Given the description of an element on the screen output the (x, y) to click on. 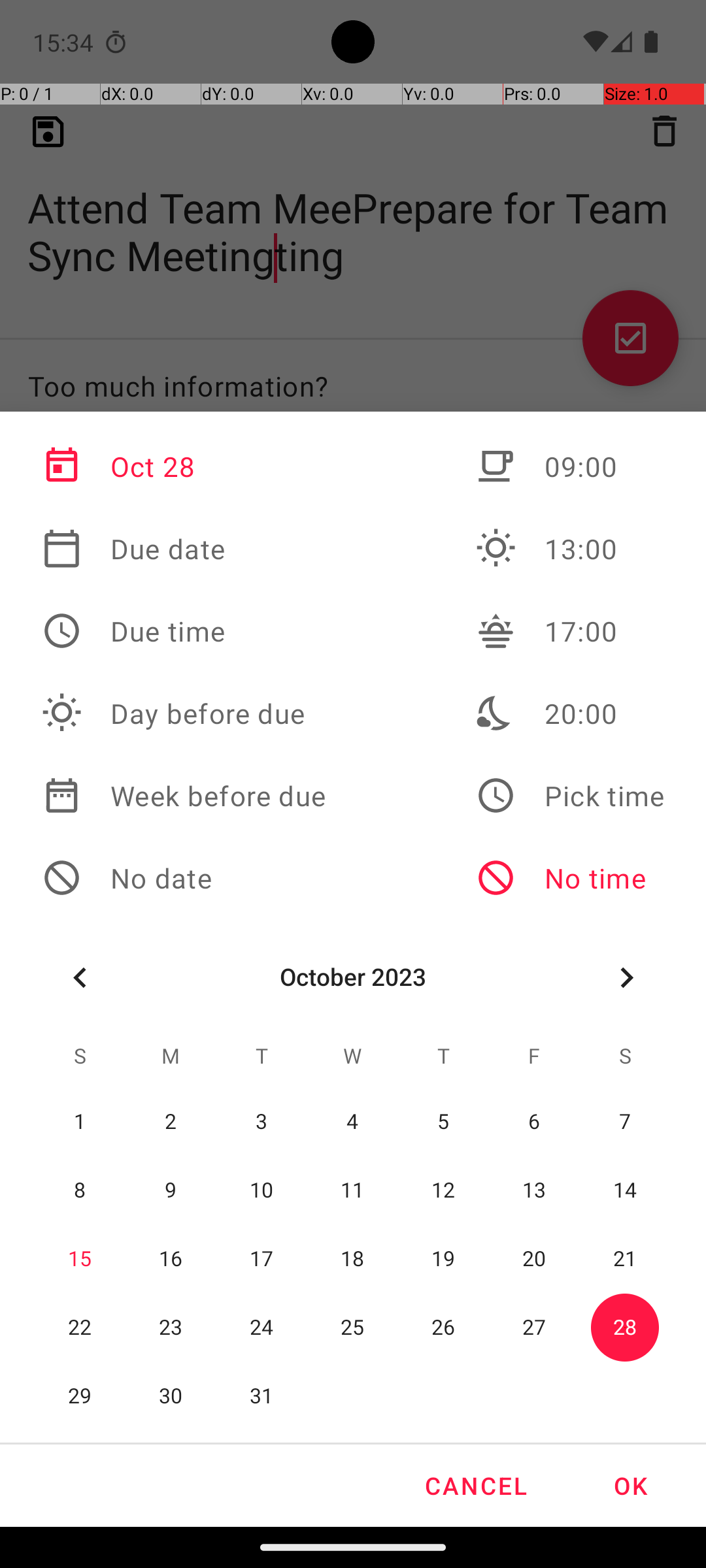
Oct 28 Element type: android.widget.CompoundButton (183, 466)
